Given the description of an element on the screen output the (x, y) to click on. 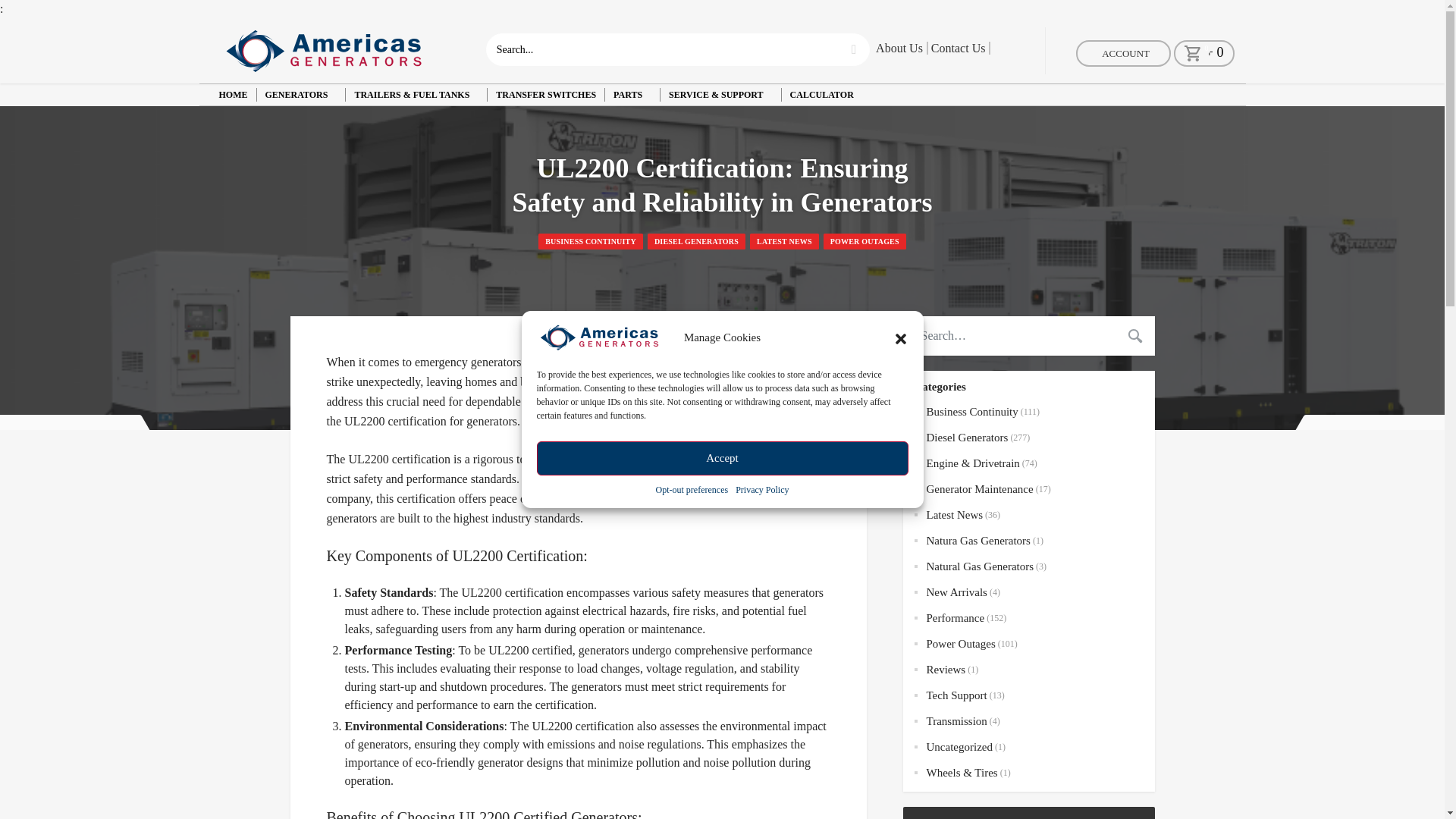
Accept (722, 543)
Privacy Policy (762, 489)
Opt-out preferences (692, 491)
